Given the description of an element on the screen output the (x, y) to click on. 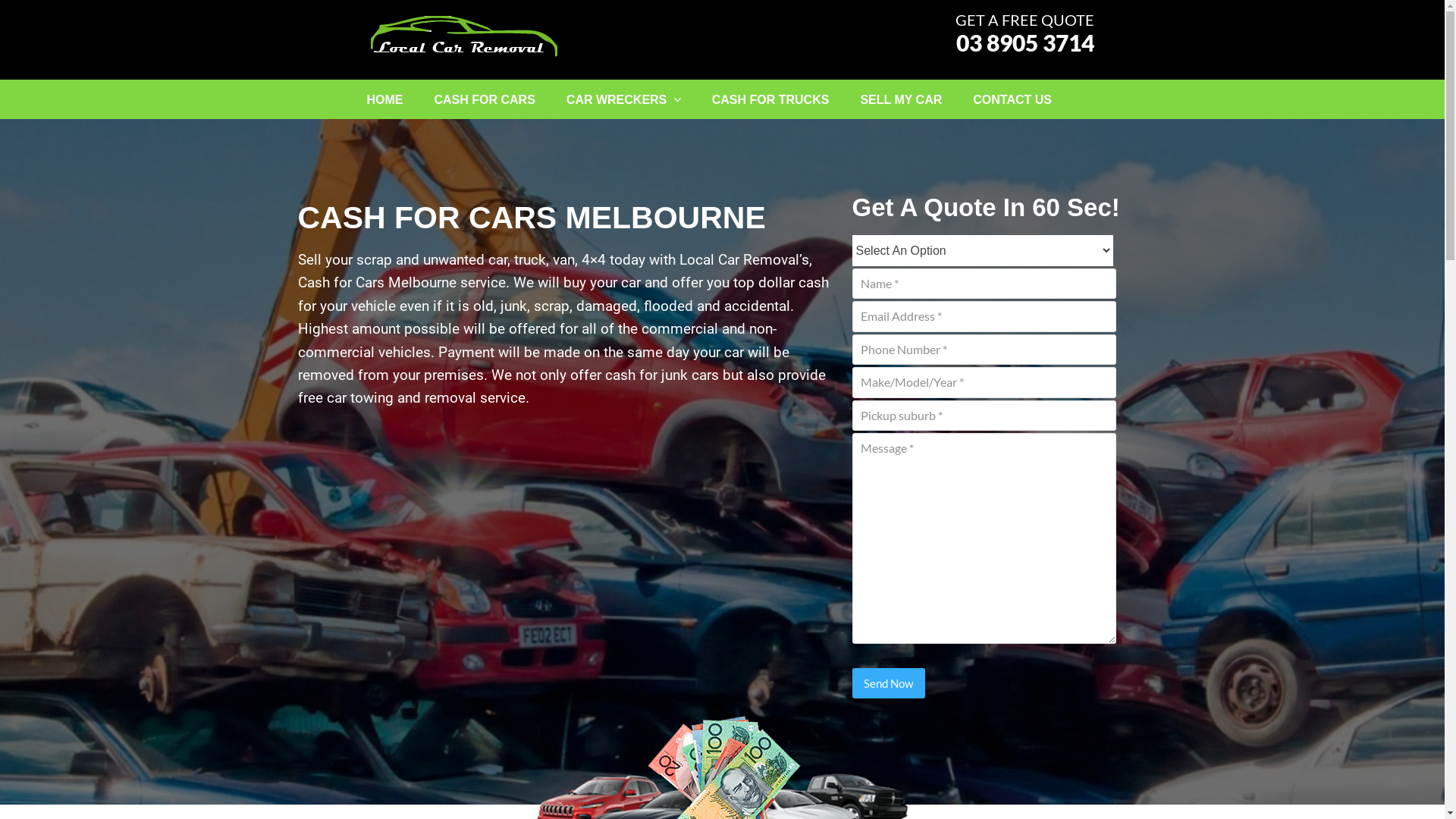
03 8905 3714 Element type: text (1024, 42)
CASH FOR CARS Element type: text (483, 99)
Send Now Element type: text (888, 683)
SELL MY CAR Element type: text (900, 99)
CAR WRECKERS Element type: text (623, 99)
HOME Element type: text (384, 99)
CONTACT US Element type: text (1011, 99)
CASH FOR TRUCKS Element type: text (770, 99)
